Given the description of an element on the screen output the (x, y) to click on. 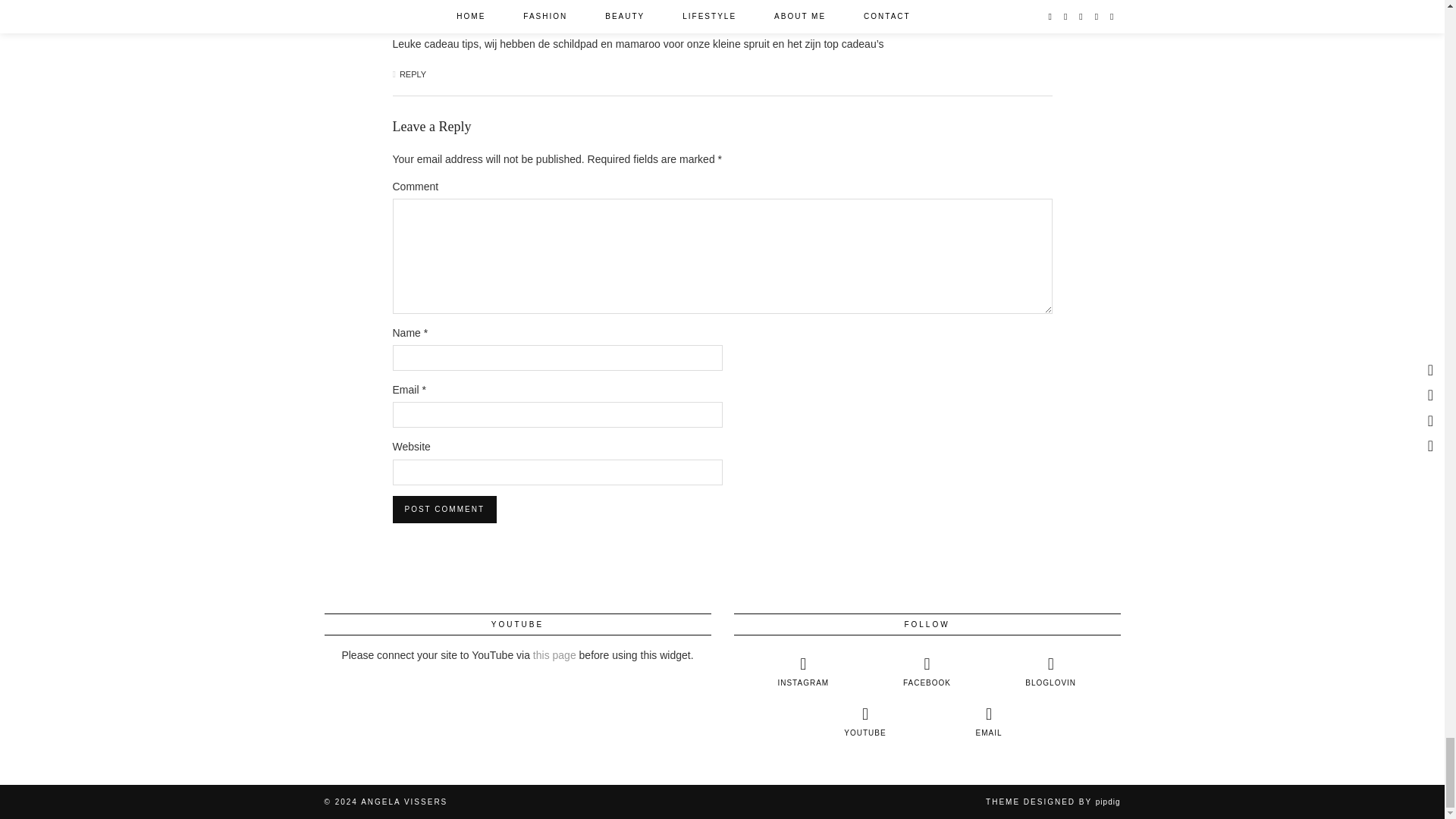
Post Comment (444, 509)
